Given the description of an element on the screen output the (x, y) to click on. 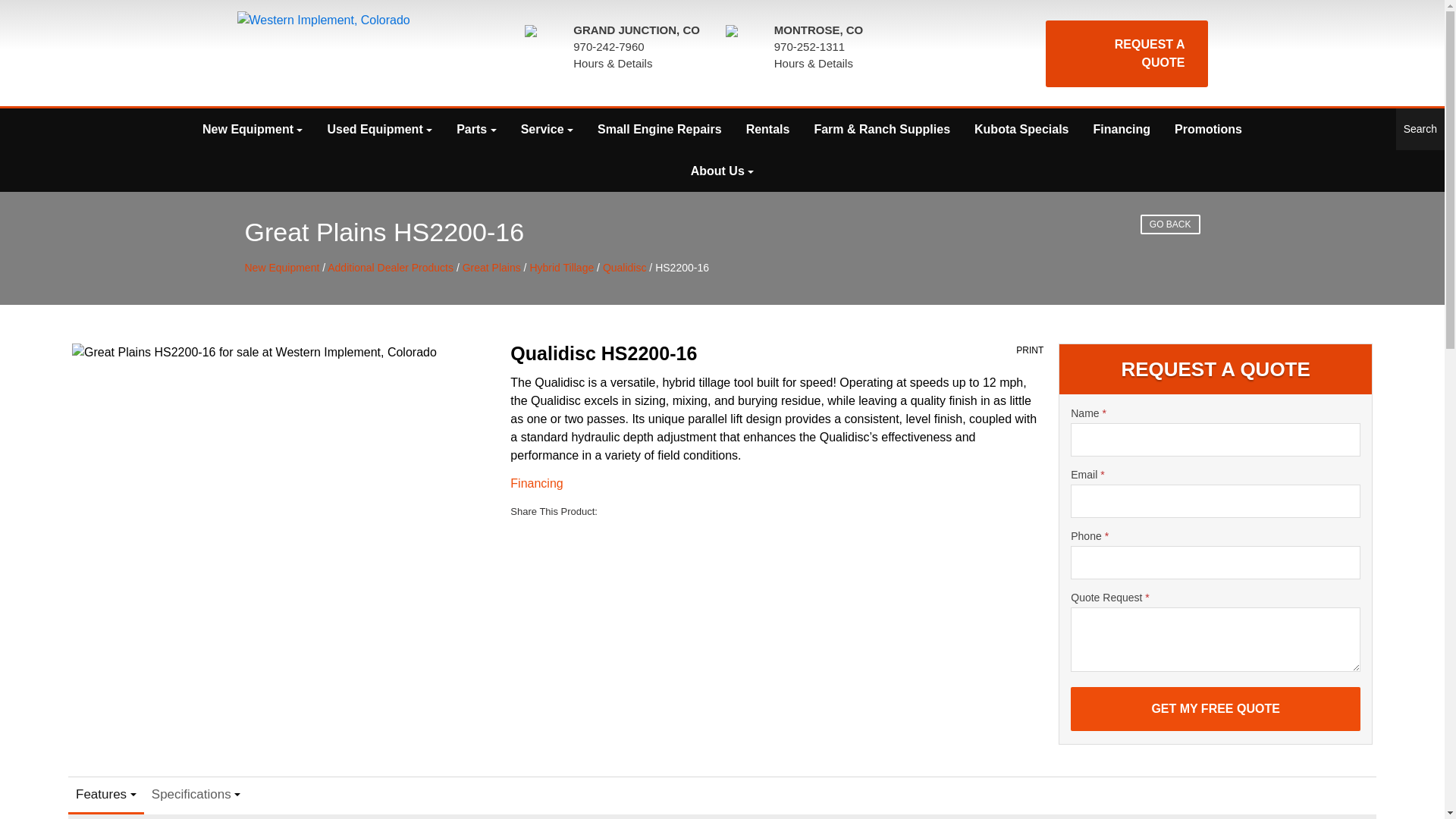
MONTROSE, CO (818, 29)
970-242-7960 (608, 46)
Get My Free Quote (1214, 709)
Print This Page (1029, 349)
Western Implement, Colorado (328, 53)
REQUEST A QUOTE (1126, 53)
New Equipment (252, 128)
GRAND JUNCTION, CO (636, 29)
970-252-1311 (809, 46)
